Given the description of an element on the screen output the (x, y) to click on. 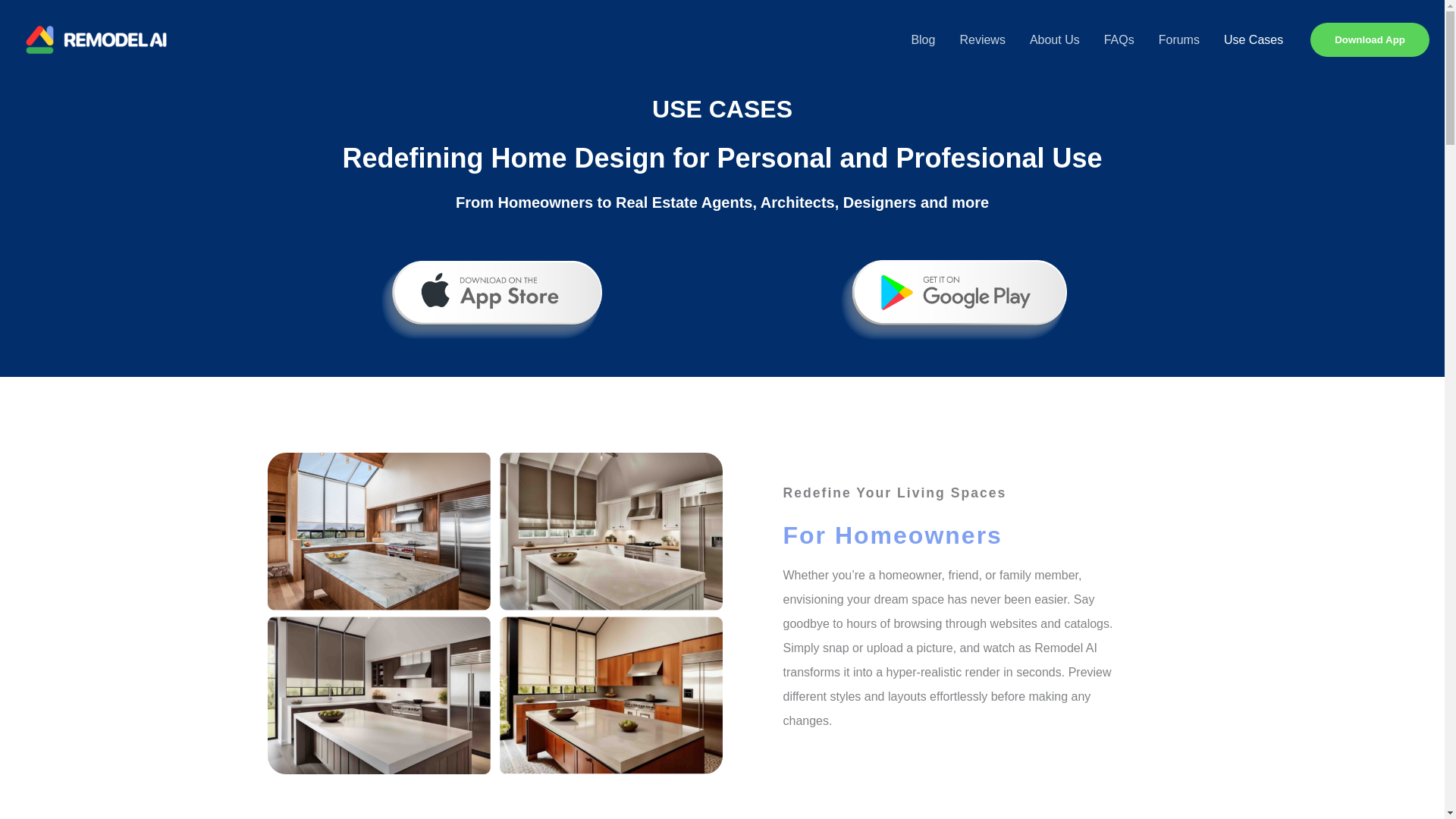
Forums (1179, 39)
FAQs (1119, 39)
Use Cases (1253, 39)
Blog (922, 39)
Download App (1369, 39)
About Us (1054, 39)
Reviews (981, 39)
